Given the description of an element on the screen output the (x, y) to click on. 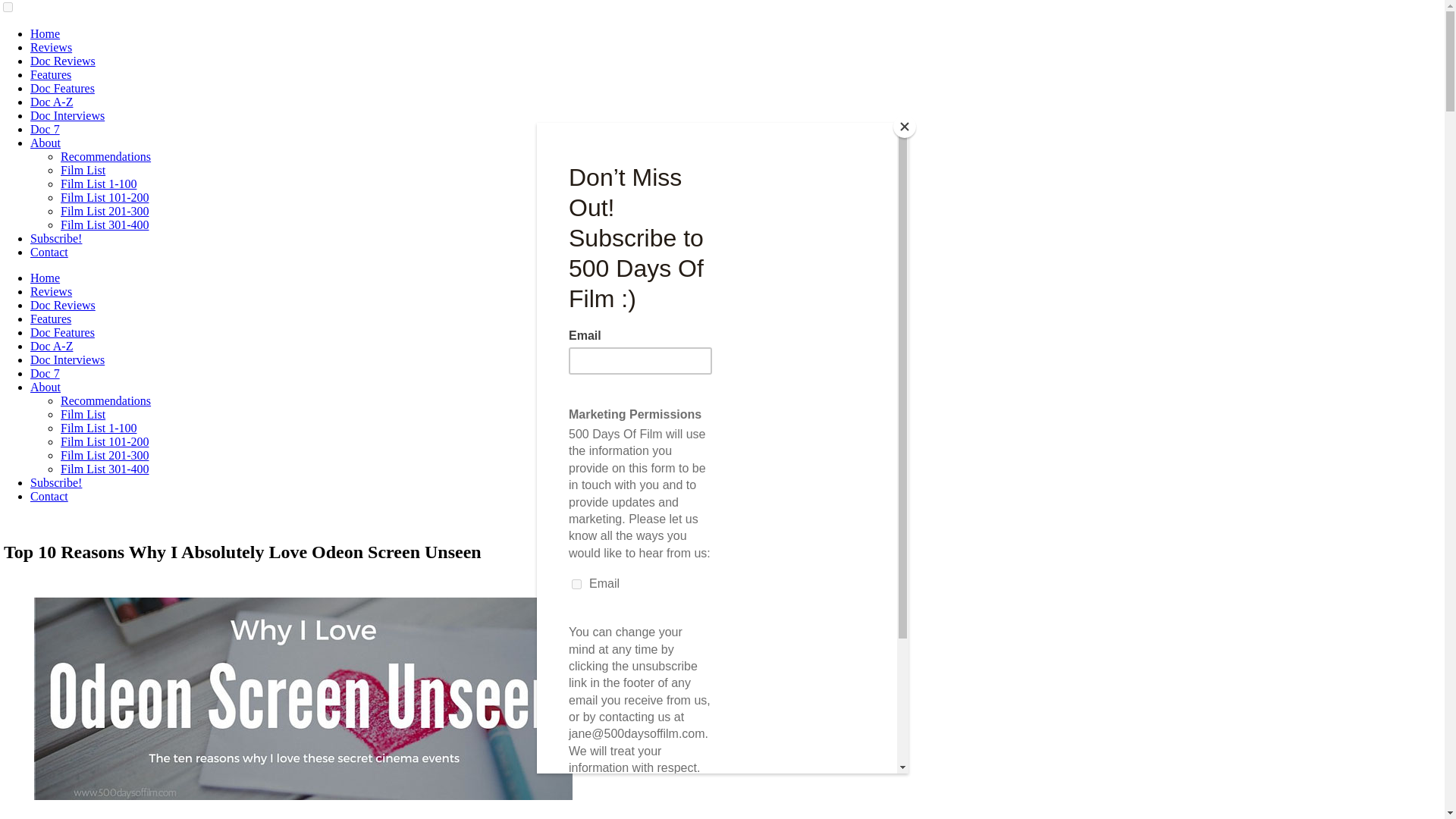
Film List 201-300 (104, 210)
Contact (49, 251)
Features (50, 74)
About (45, 386)
Doc Interviews (67, 359)
Reviews (50, 291)
Film List (82, 169)
Doc Features (62, 332)
Doc A-Z (51, 345)
Subscribe! (55, 237)
Recommendations (106, 400)
Home (44, 277)
Doc 7 (44, 373)
About (45, 142)
Film List 1-100 (98, 427)
